Given the description of an element on the screen output the (x, y) to click on. 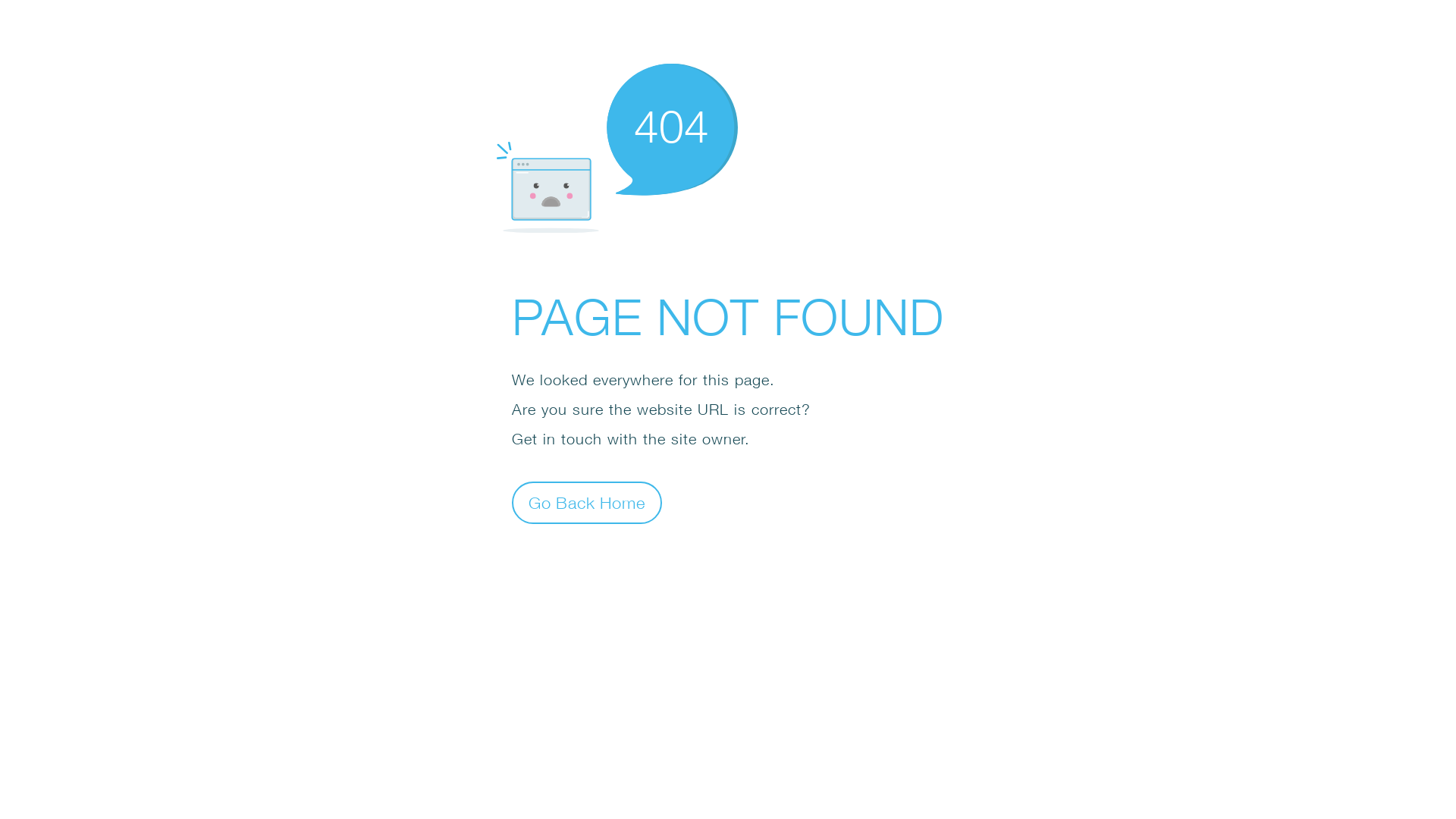
Go Back Home Element type: text (586, 502)
